Given the description of an element on the screen output the (x, y) to click on. 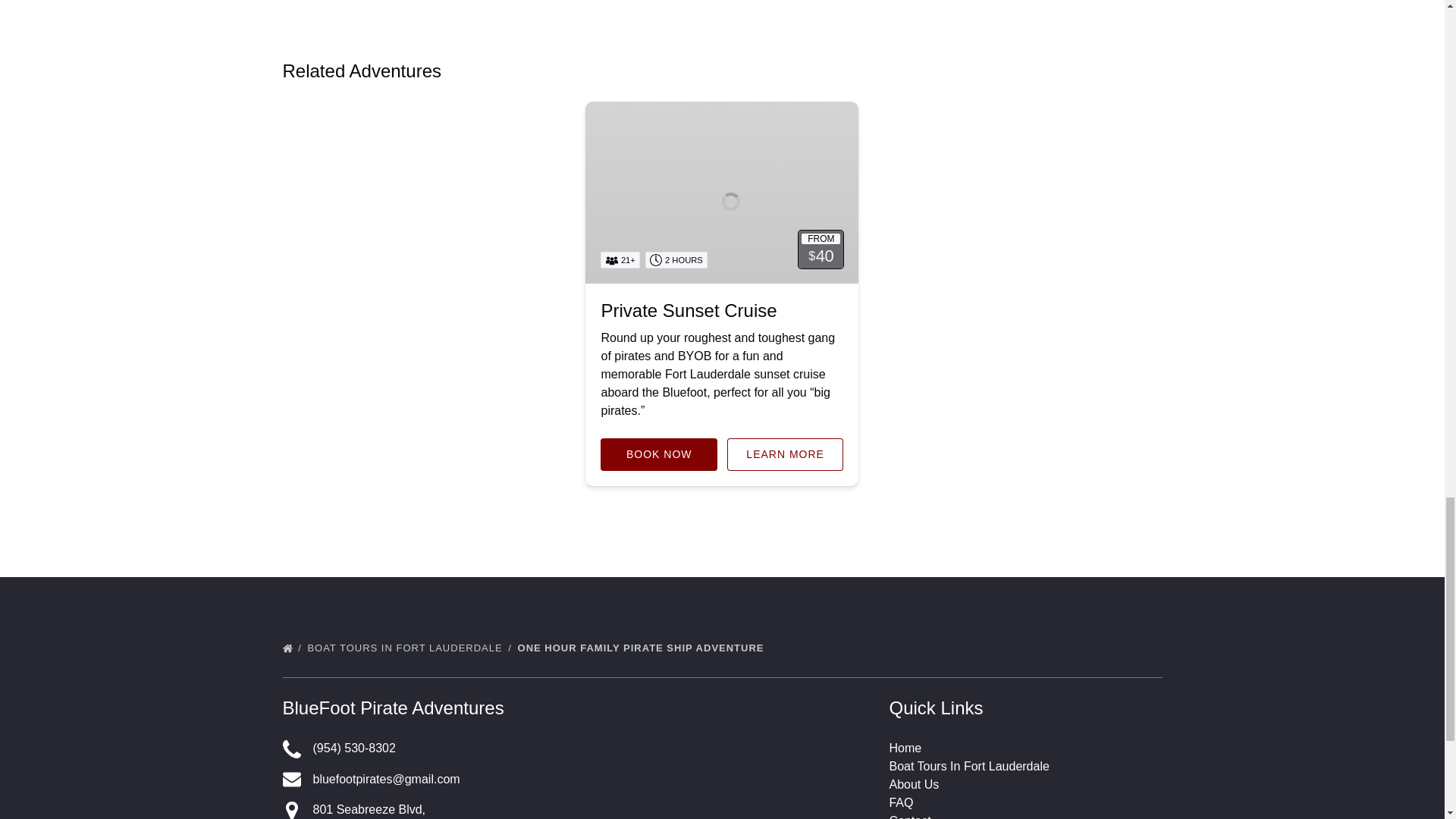
Envelope (290, 779)
Map Marker (290, 810)
Phone (290, 749)
